Given the description of an element on the screen output the (x, y) to click on. 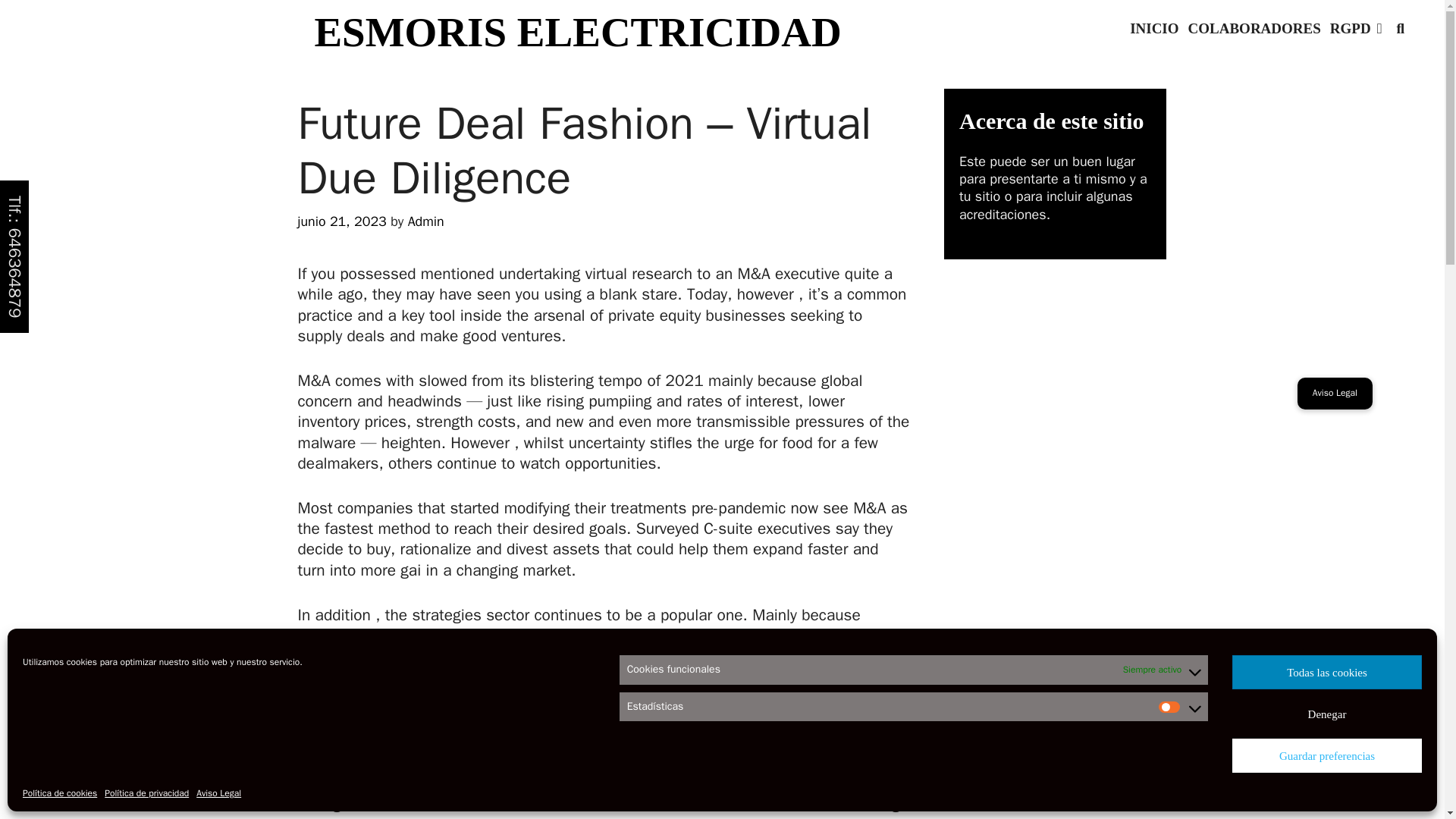
View all posts by Admin (425, 221)
Aviso Legal (218, 793)
Denegar (1326, 713)
COLABORADORES (1253, 28)
junio 21, 2023 (341, 221)
Admin (425, 221)
Search (144, 23)
INICIO (1153, 28)
12:00 am (341, 221)
RGPD (1355, 28)
